Given the description of an element on the screen output the (x, y) to click on. 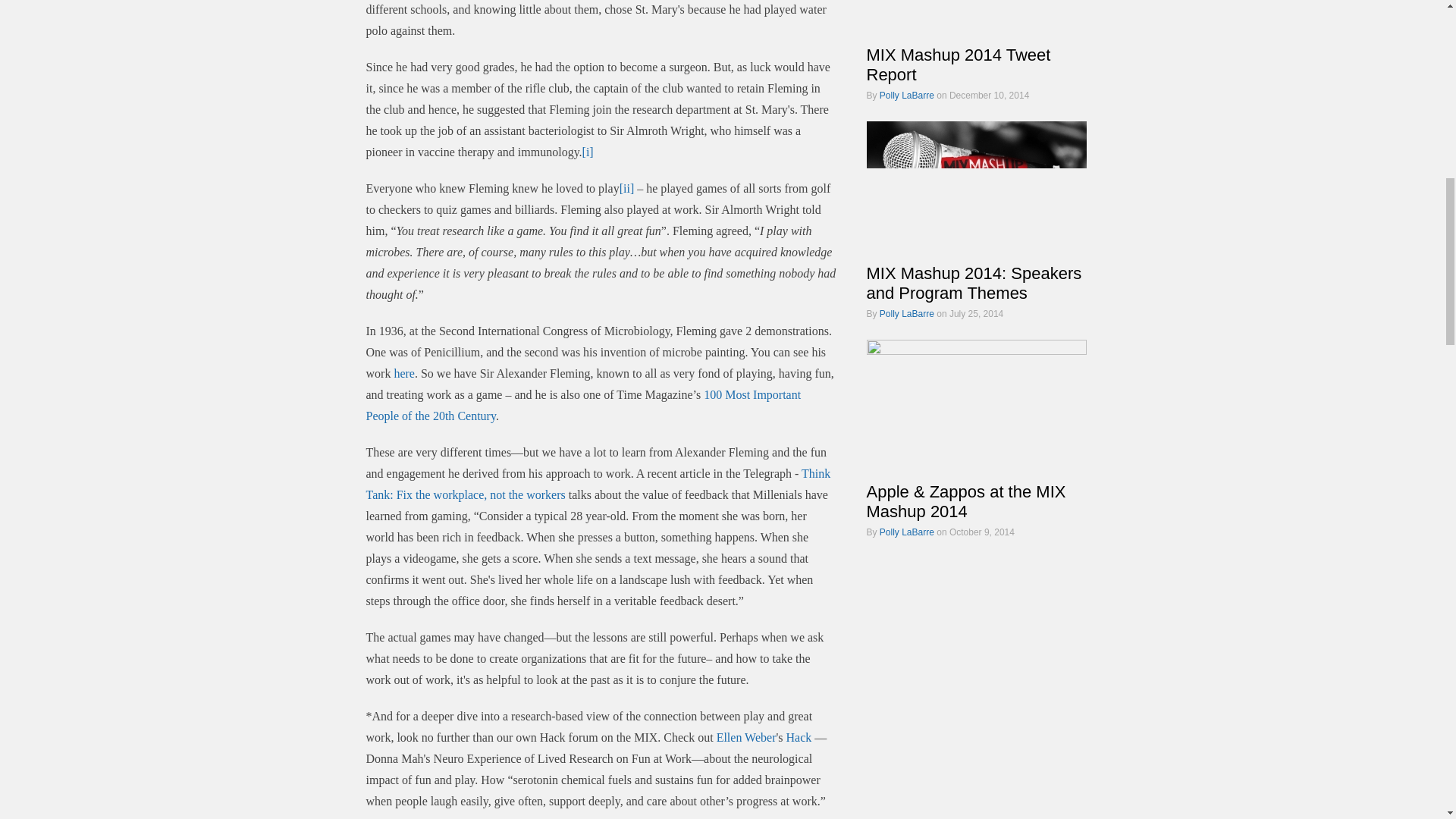
here (403, 373)
100 Most Important People of the 20th Century (582, 405)
Think Tank: Fix the workplace, not the workers (597, 483)
